Given the description of an element on the screen output the (x, y) to click on. 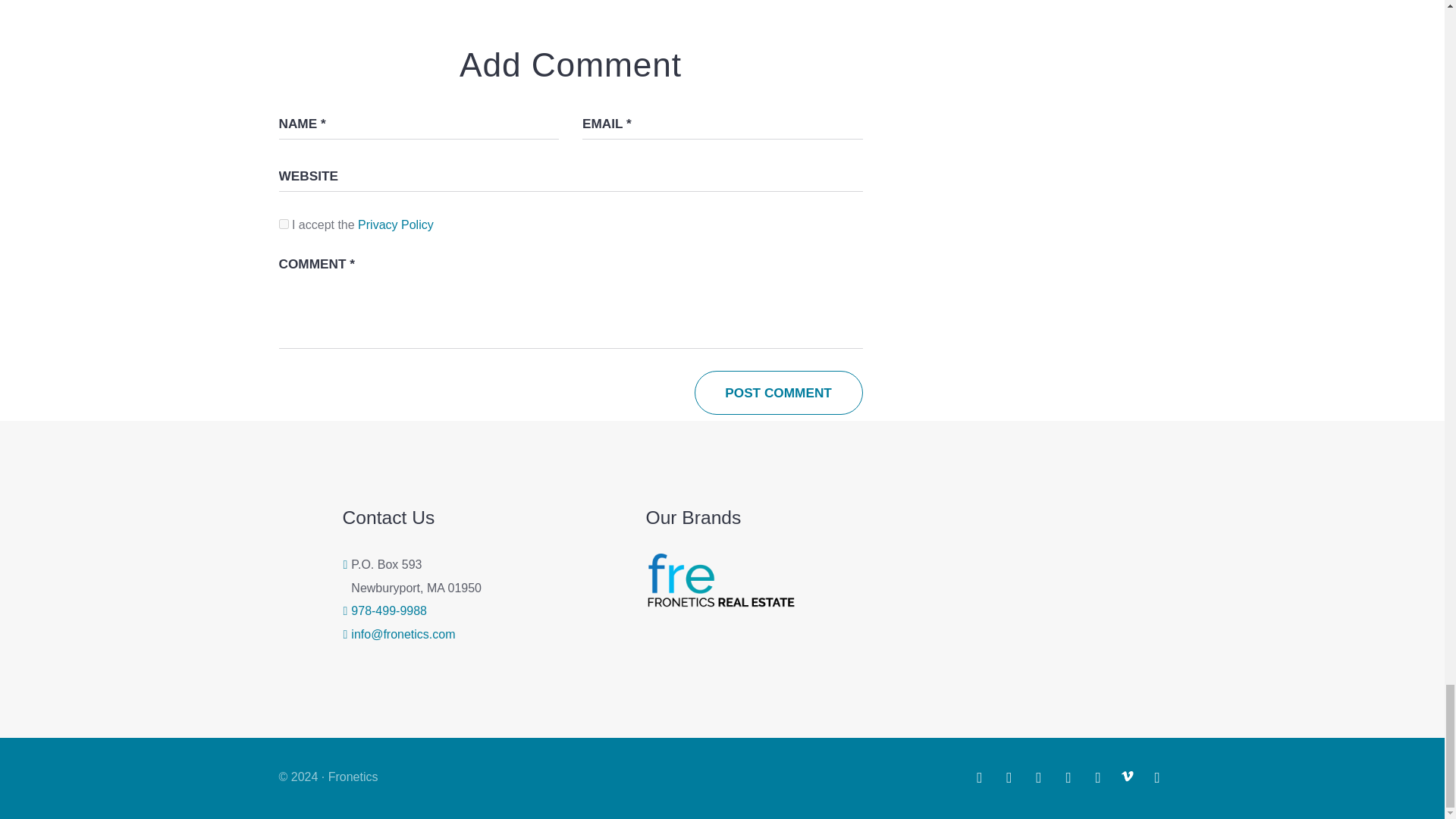
Post Comment (778, 393)
1 (283, 224)
